Given the description of an element on the screen output the (x, y) to click on. 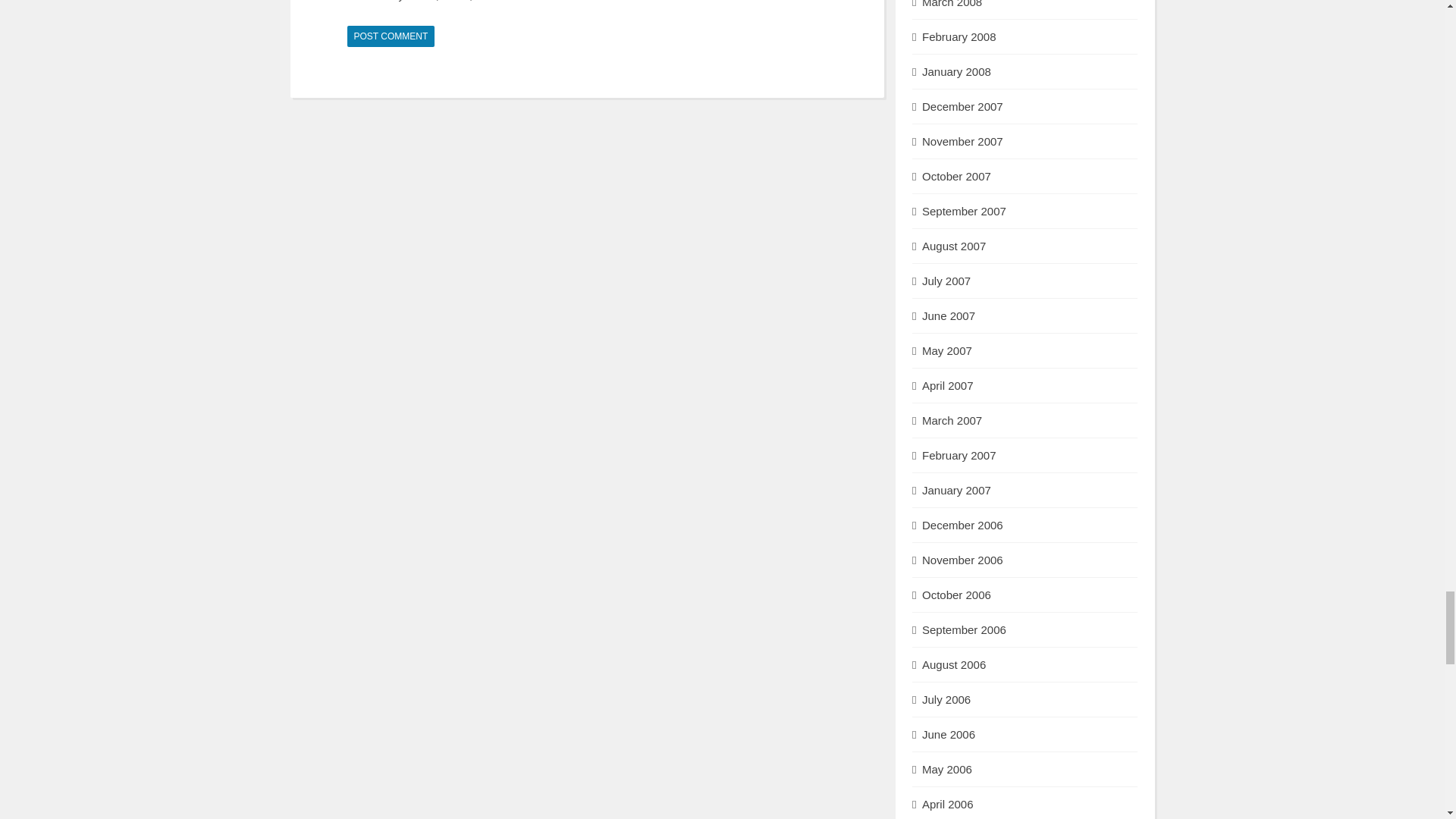
Post Comment (391, 35)
Post Comment (391, 35)
